Given the description of an element on the screen output the (x, y) to click on. 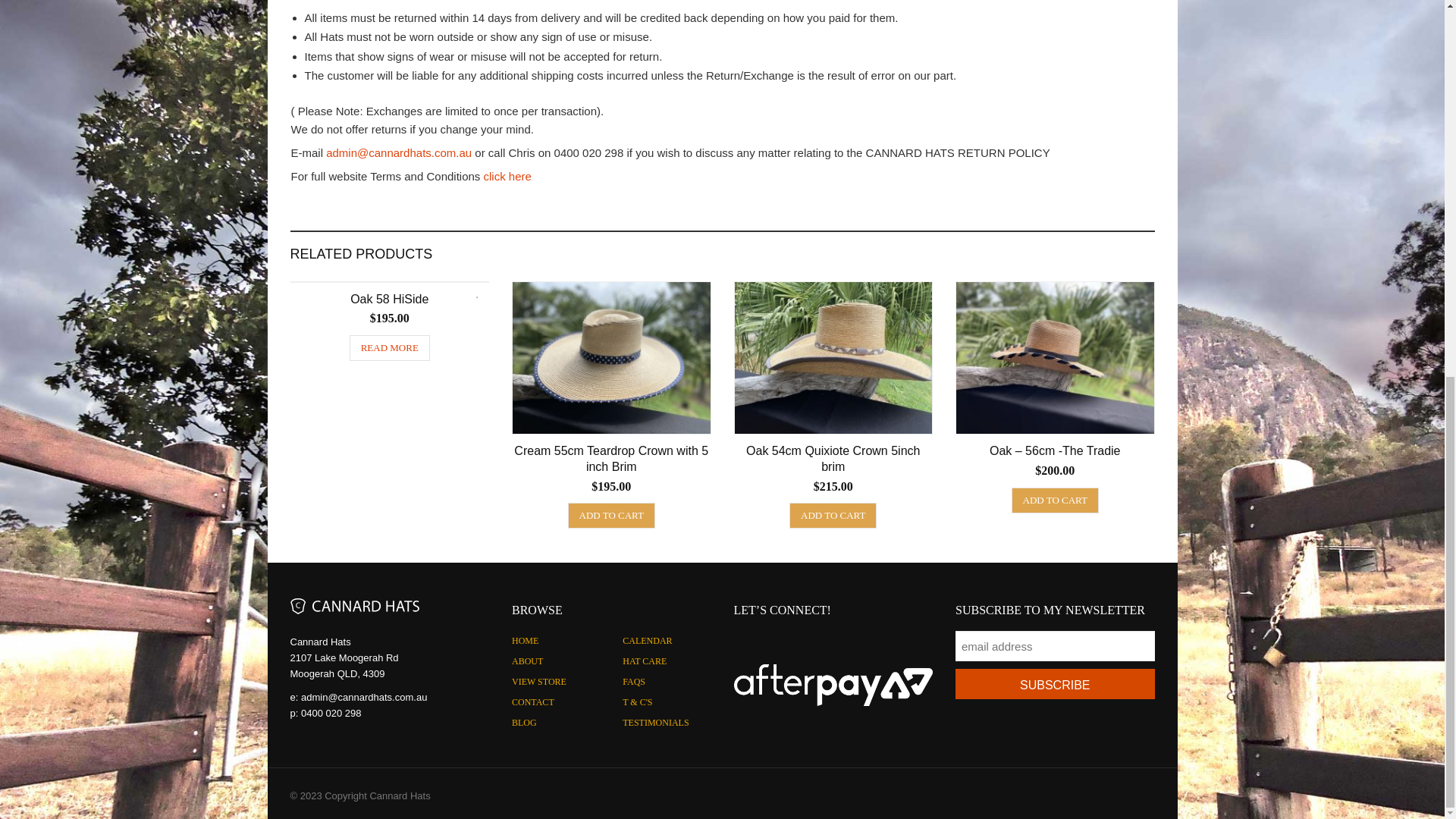
Subscribe (1054, 684)
